Given the description of an element on the screen output the (x, y) to click on. 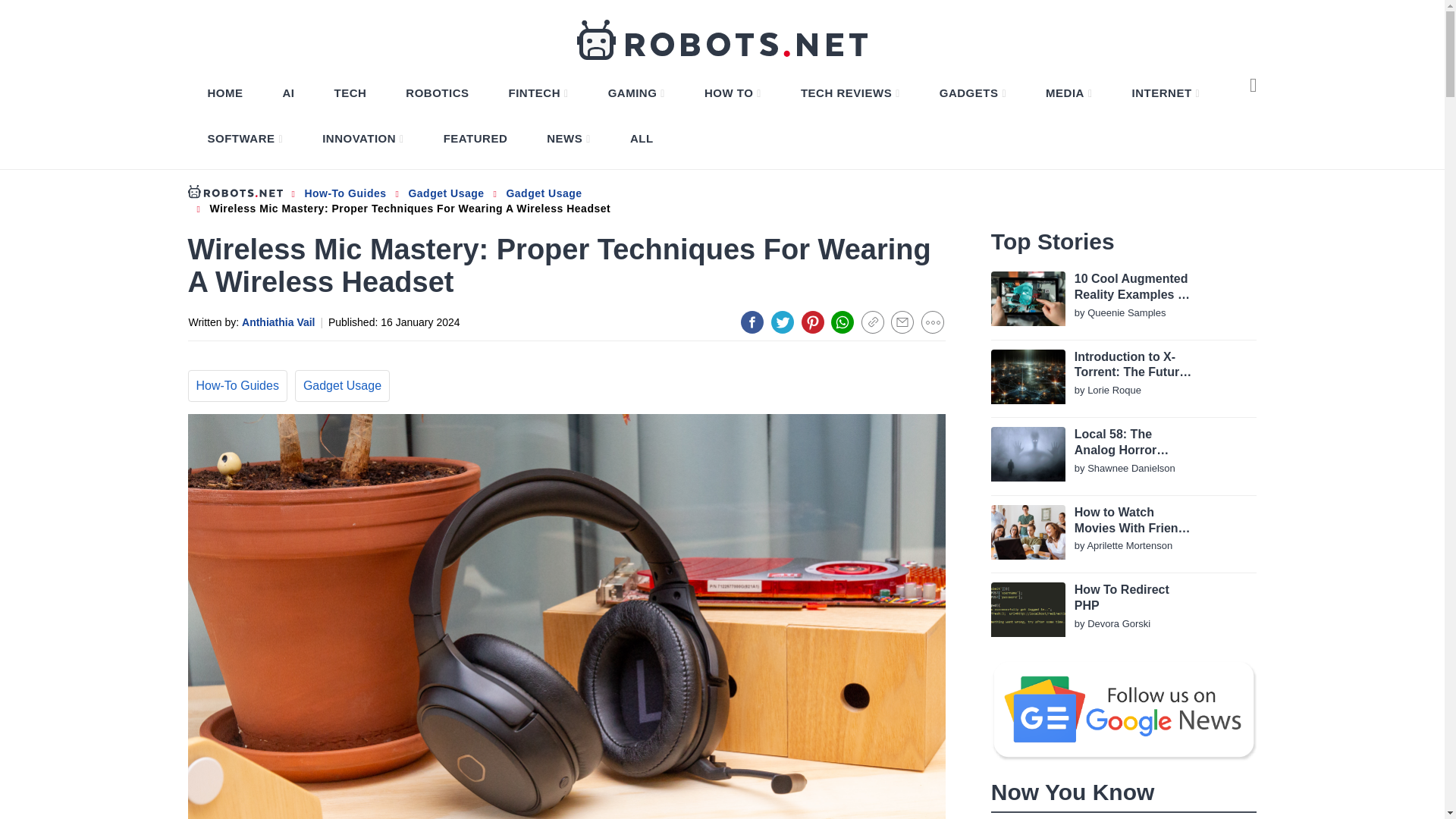
FINTECH (538, 93)
MEDIA (1068, 93)
Copy to Clipboard (872, 322)
Share on twitter (782, 322)
HOW TO (732, 93)
Share on Whatsapp (842, 322)
HOME (225, 93)
ROBOTICS (436, 93)
Share on facebook (751, 322)
GAMING (635, 93)
